Given the description of an element on the screen output the (x, y) to click on. 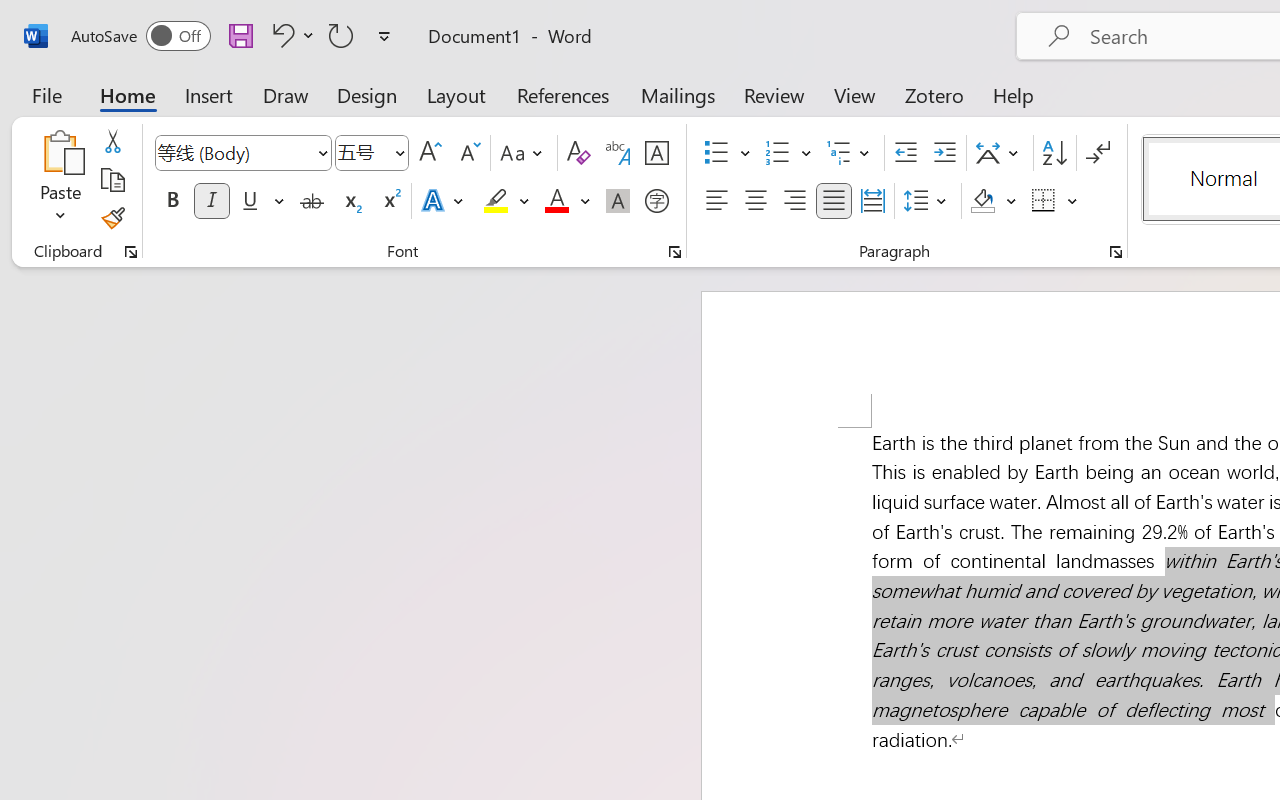
Enclose Characters... (656, 201)
Justify (834, 201)
Multilevel List (850, 153)
Superscript (390, 201)
Change Case (524, 153)
Shading (993, 201)
